Given the description of an element on the screen output the (x, y) to click on. 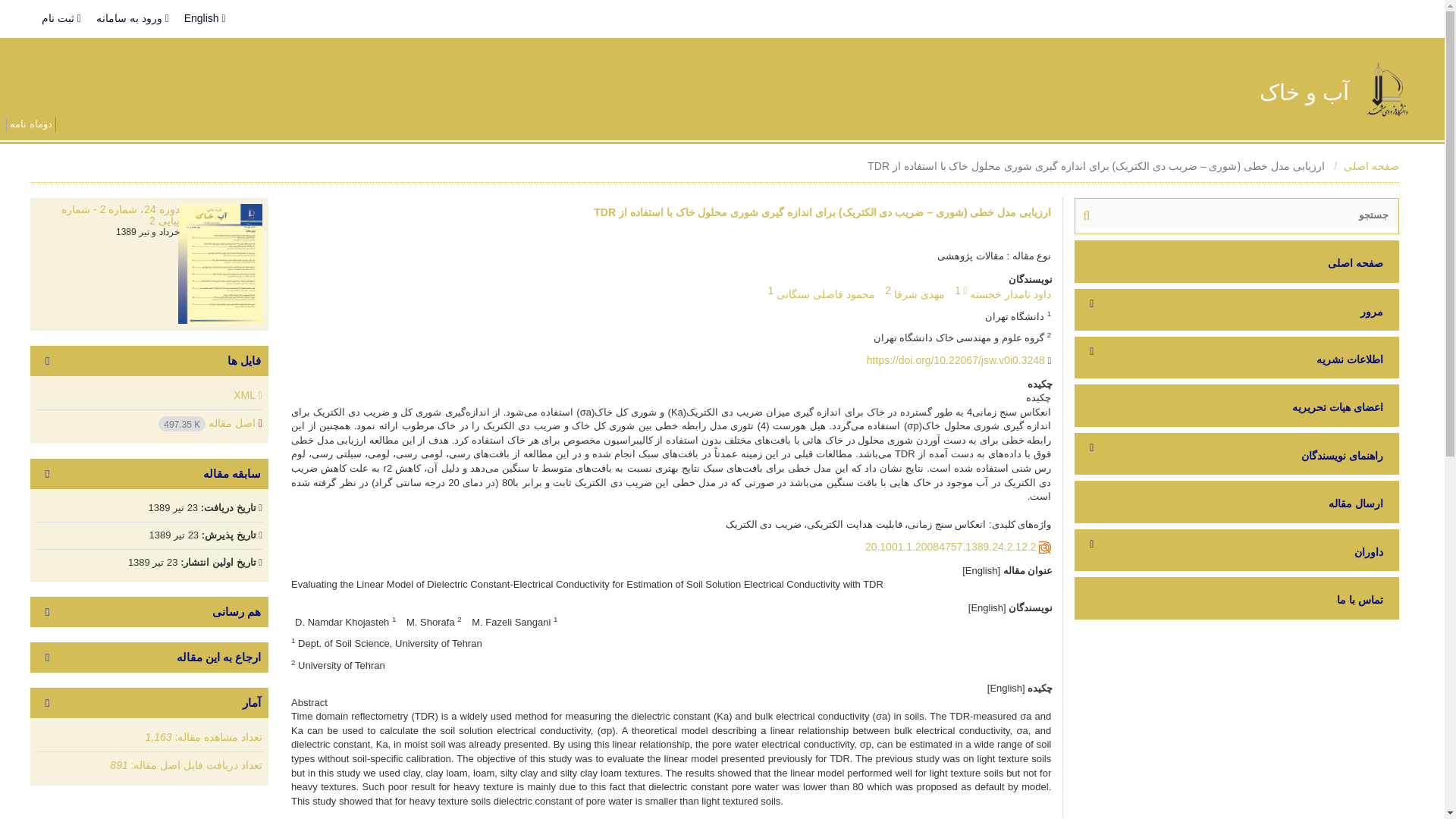
English (204, 18)
DOR (950, 546)
